Given the description of an element on the screen output the (x, y) to click on. 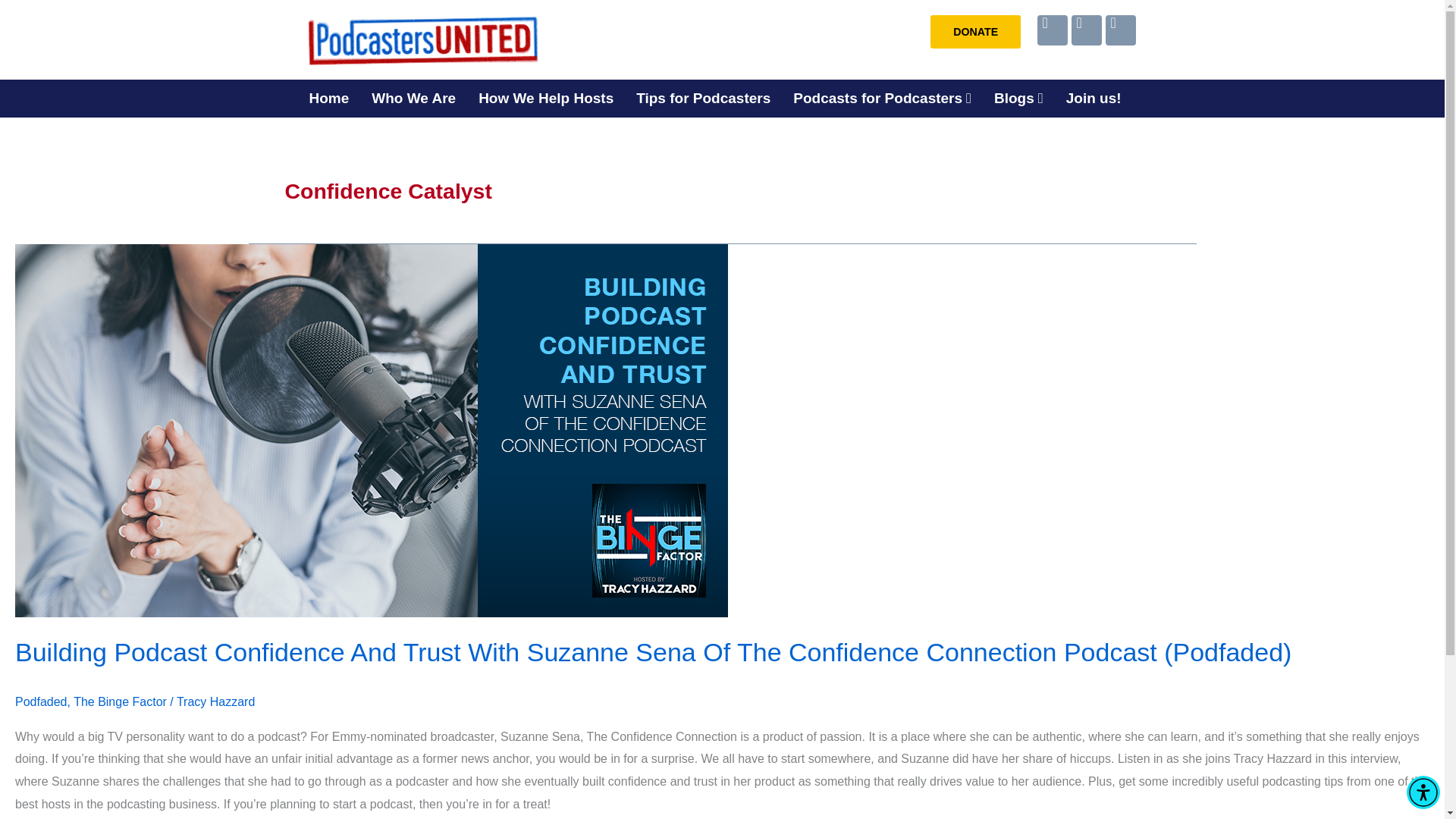
DONATE (975, 31)
Home (328, 97)
Blogs (1018, 97)
Accessibility Menu (1422, 792)
Tips for Podcasters (702, 97)
Podfaded (40, 701)
Tracy Hazzard (215, 701)
How We Help Hosts (545, 97)
Who We Are (413, 97)
View all posts by Tracy Hazzard (215, 701)
Linkedin (1086, 30)
Instagram (1120, 30)
Youtube (1051, 30)
The Binge Factor (120, 701)
Join us! (1093, 97)
